Given the description of an element on the screen output the (x, y) to click on. 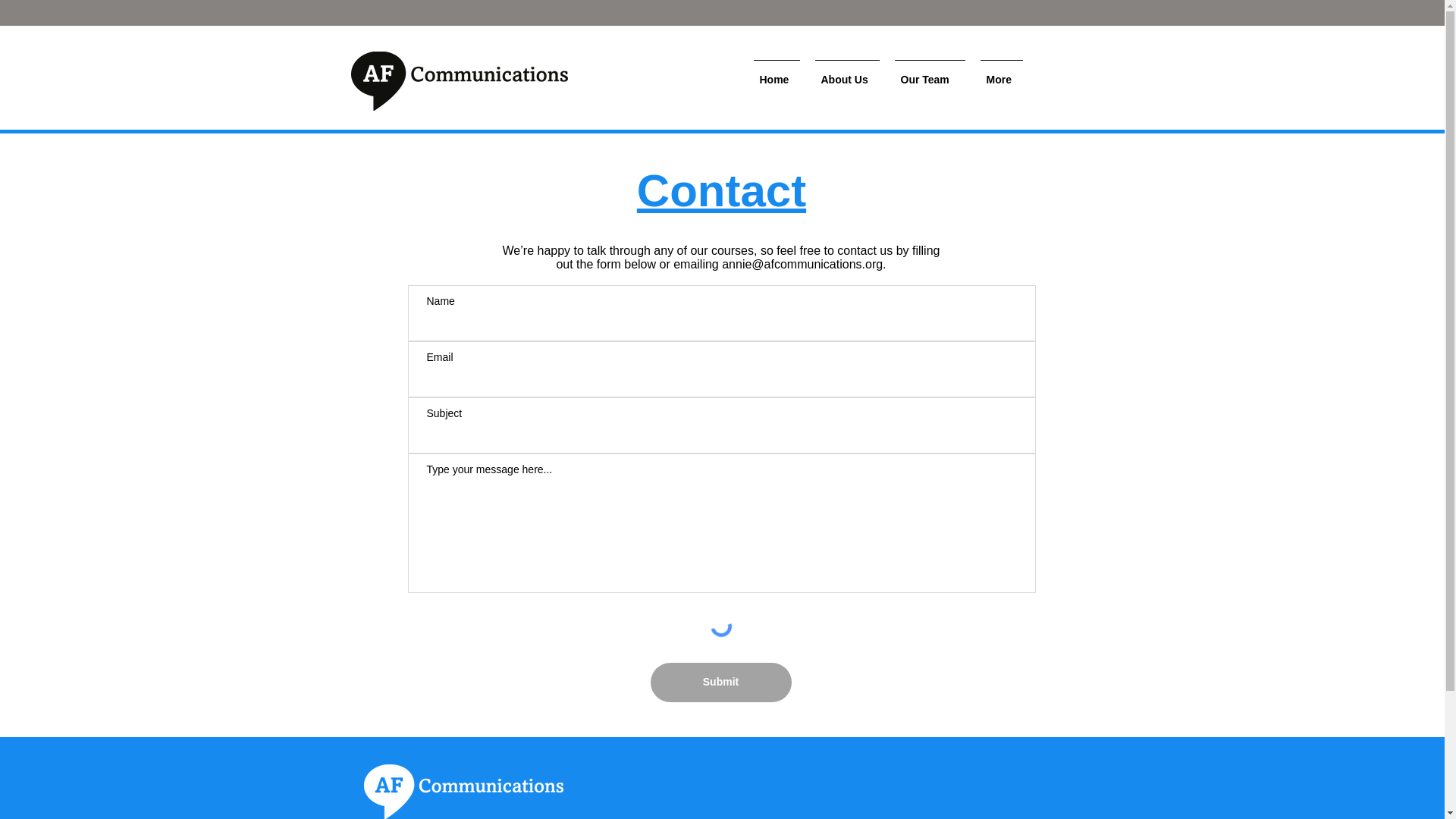
Submit (721, 681)
Our Team (929, 72)
About Us (846, 72)
Home (776, 72)
